Given the description of an element on the screen output the (x, y) to click on. 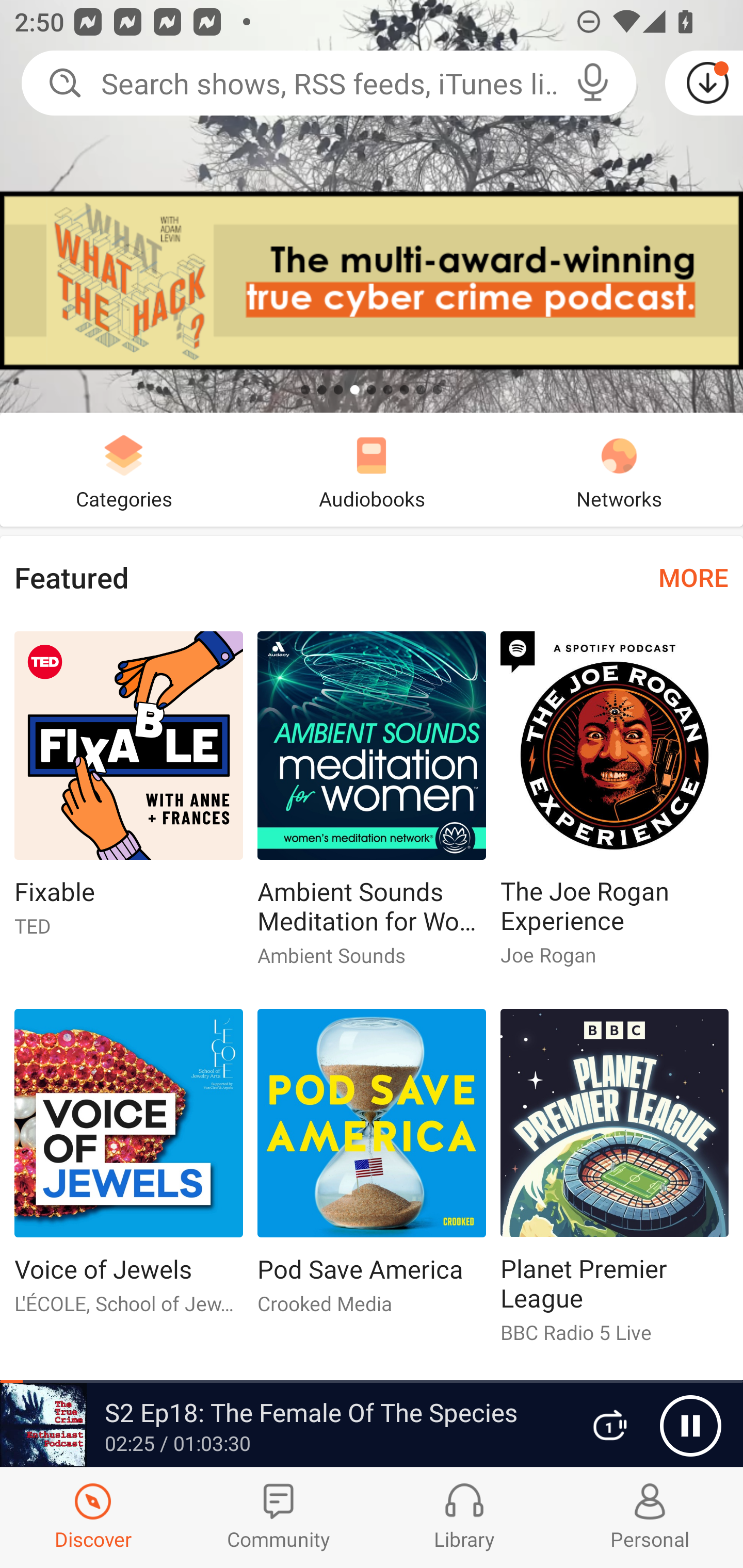
Categories (123, 469)
Audiobooks (371, 469)
Networks (619, 469)
MORE (693, 576)
Fixable Fixable TED (128, 792)
Pod Save America Pod Save America Crooked Media (371, 1169)
Pause (690, 1425)
Discover (92, 1517)
Community (278, 1517)
Library (464, 1517)
Profiles and Settings Personal (650, 1517)
